Given the description of an element on the screen output the (x, y) to click on. 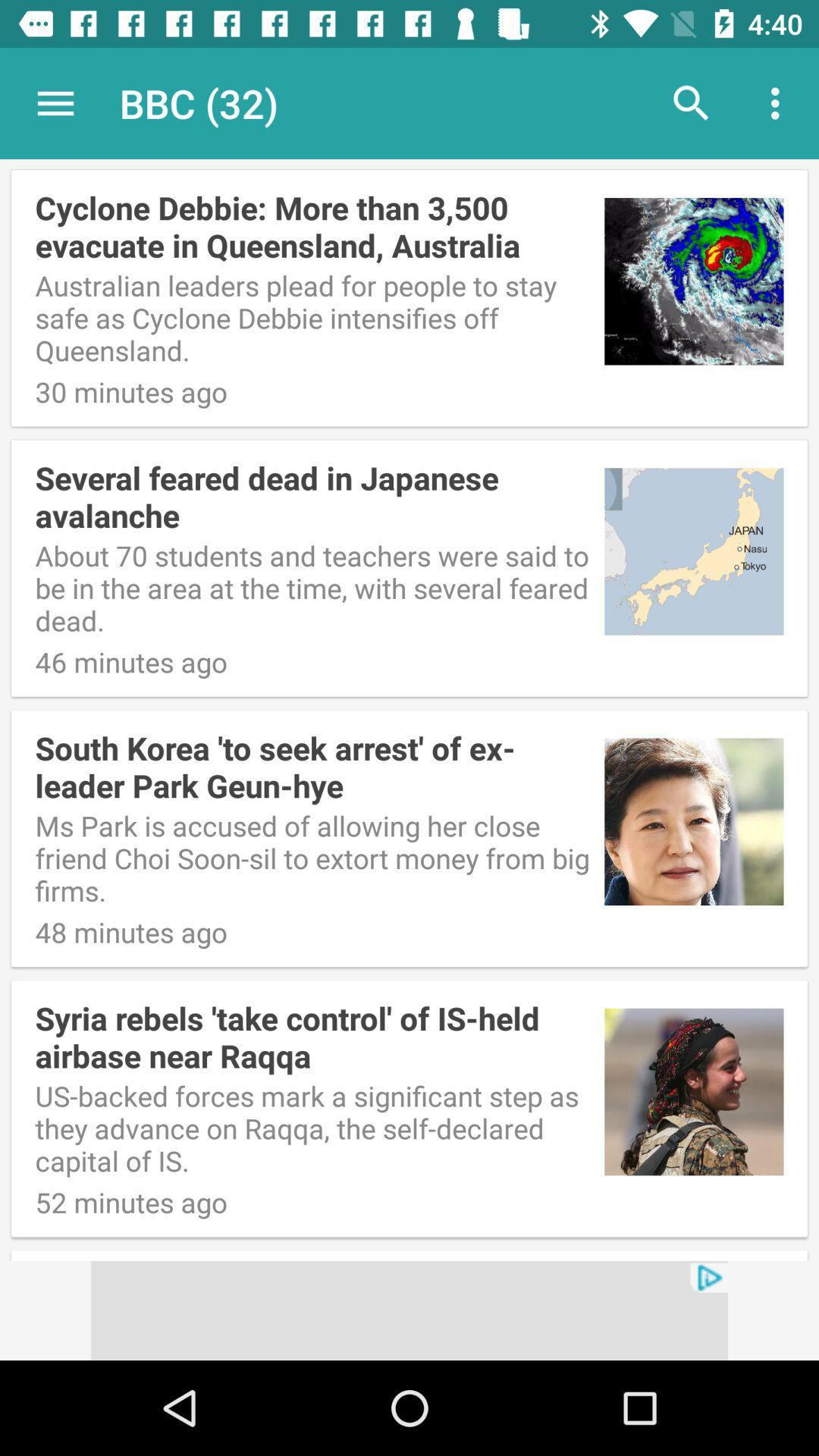
press the app below 52 minutes ago app (409, 1310)
